Given the description of an element on the screen output the (x, y) to click on. 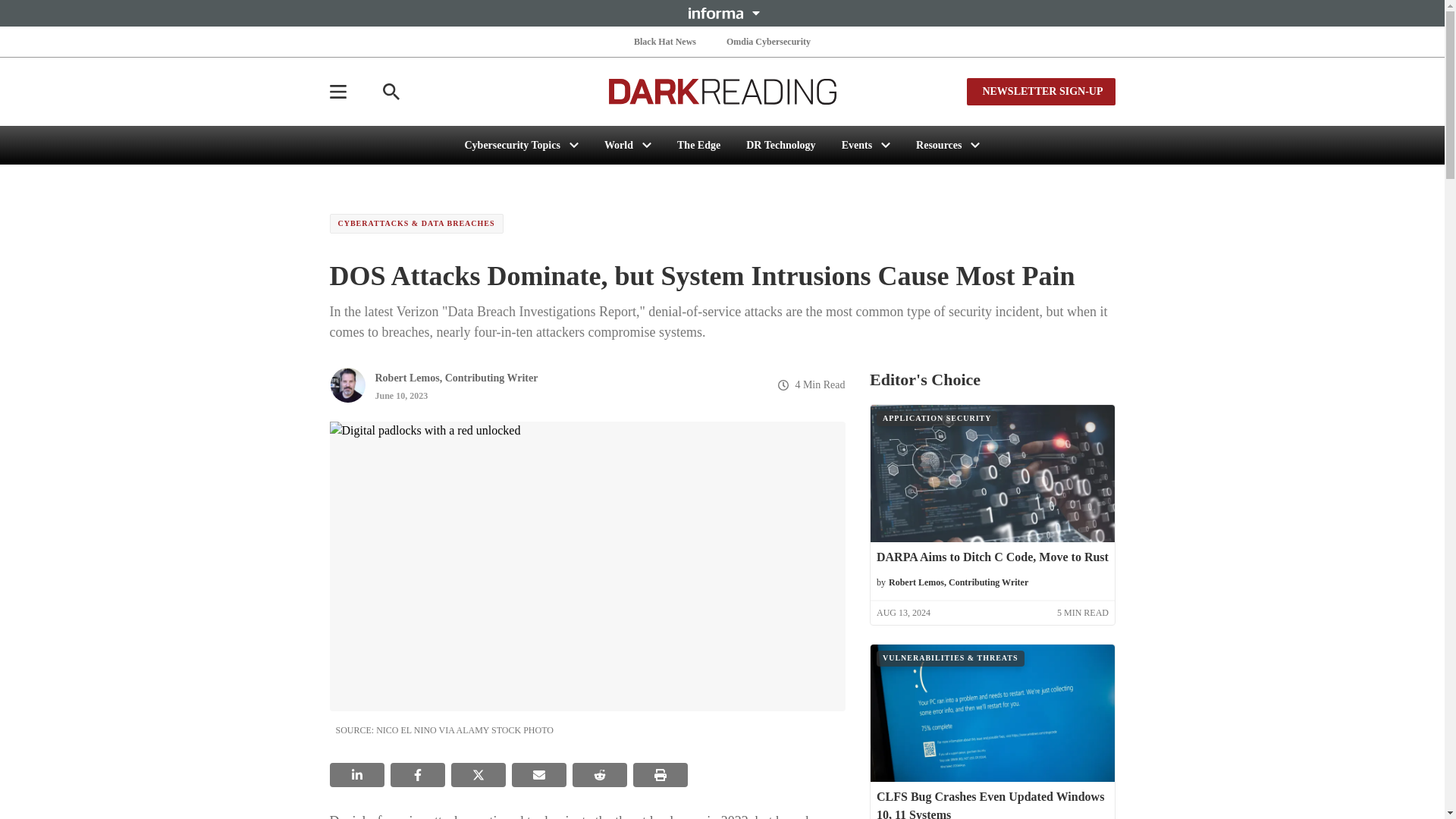
Picture of Robert Lemos, Contributing Writer (347, 384)
Black Hat News (664, 41)
NEWSLETTER SIGN-UP (1040, 90)
Omdia Cybersecurity (768, 41)
Dark Reading Logo (721, 91)
